Given the description of an element on the screen output the (x, y) to click on. 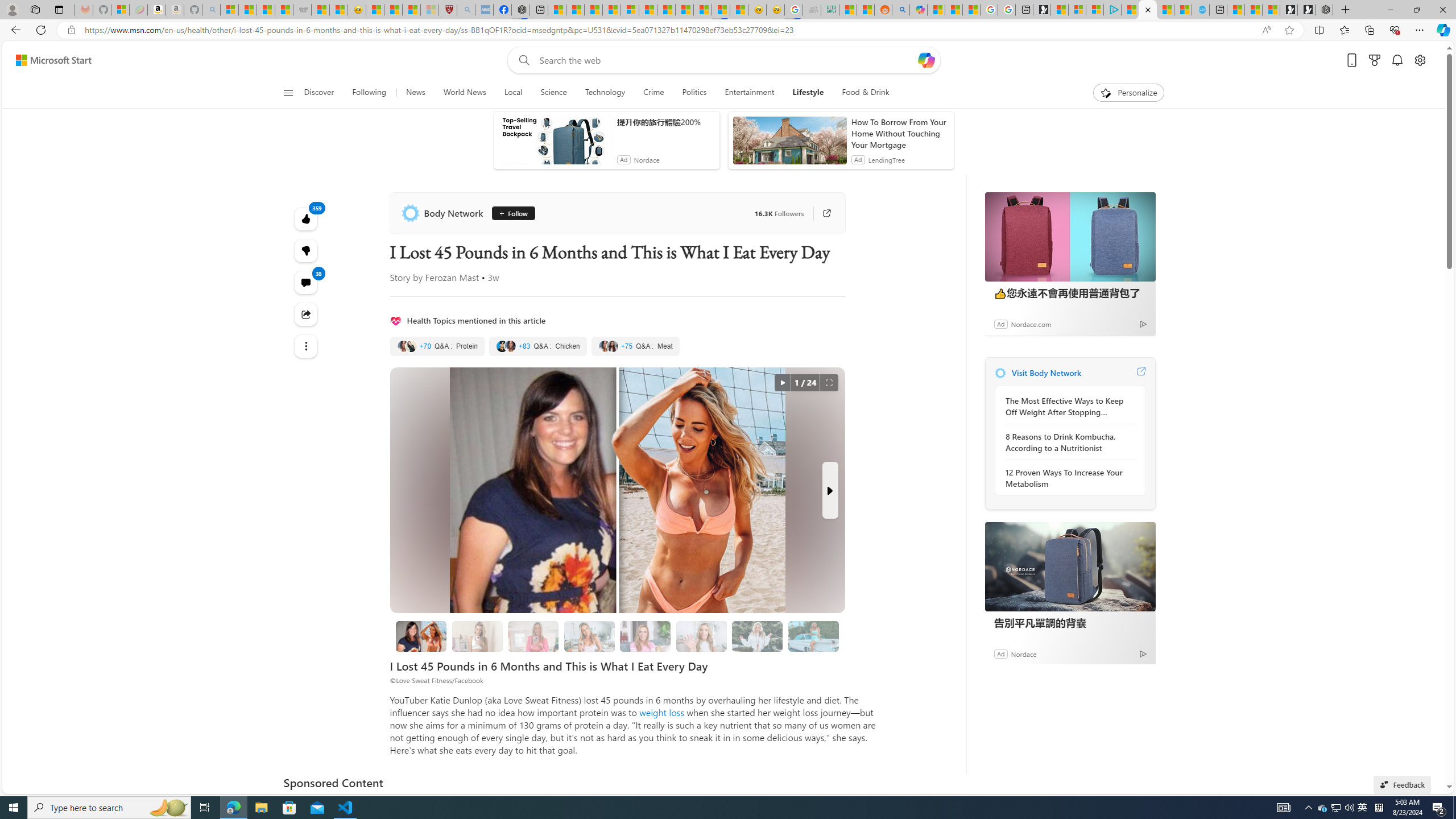
Meat (635, 346)
5 Why? Body Weight Fluctuates Daily (757, 635)
Class: quote-thumbnail (611, 345)
weight loss (661, 711)
